Given the description of an element on the screen output the (x, y) to click on. 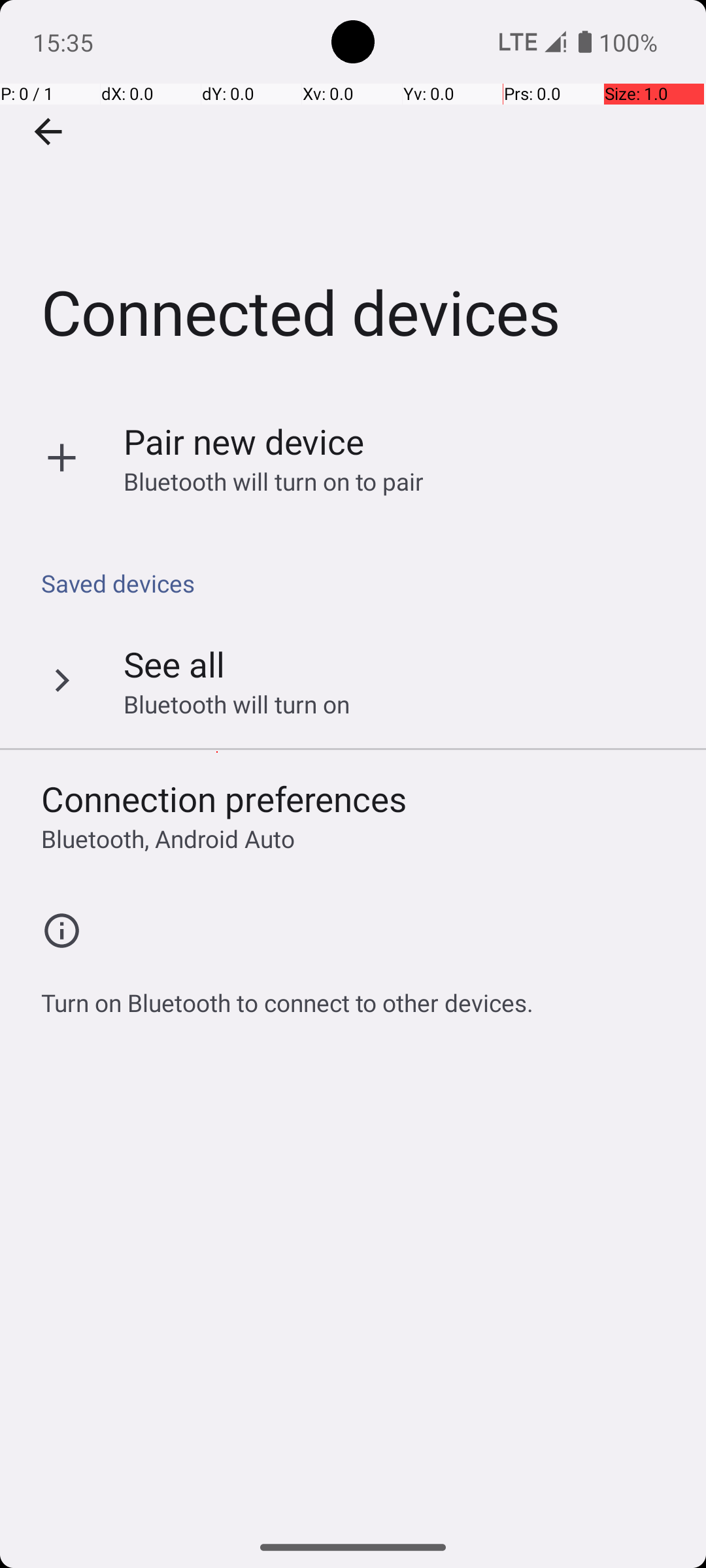
Pair new device Element type: android.widget.TextView (243, 441)
Bluetooth will turn on to pair Element type: android.widget.TextView (273, 480)
Saved devices Element type: android.widget.TextView (359, 582)
See all Element type: android.widget.TextView (173, 663)
Bluetooth will turn on Element type: android.widget.TextView (236, 703)
Connection preferences Element type: android.widget.TextView (224, 798)
Bluetooth, Android Auto Element type: android.widget.TextView (167, 838)
Turn on Bluetooth to connect to other devices. Element type: android.widget.TextView (287, 995)
